Given the description of an element on the screen output the (x, y) to click on. 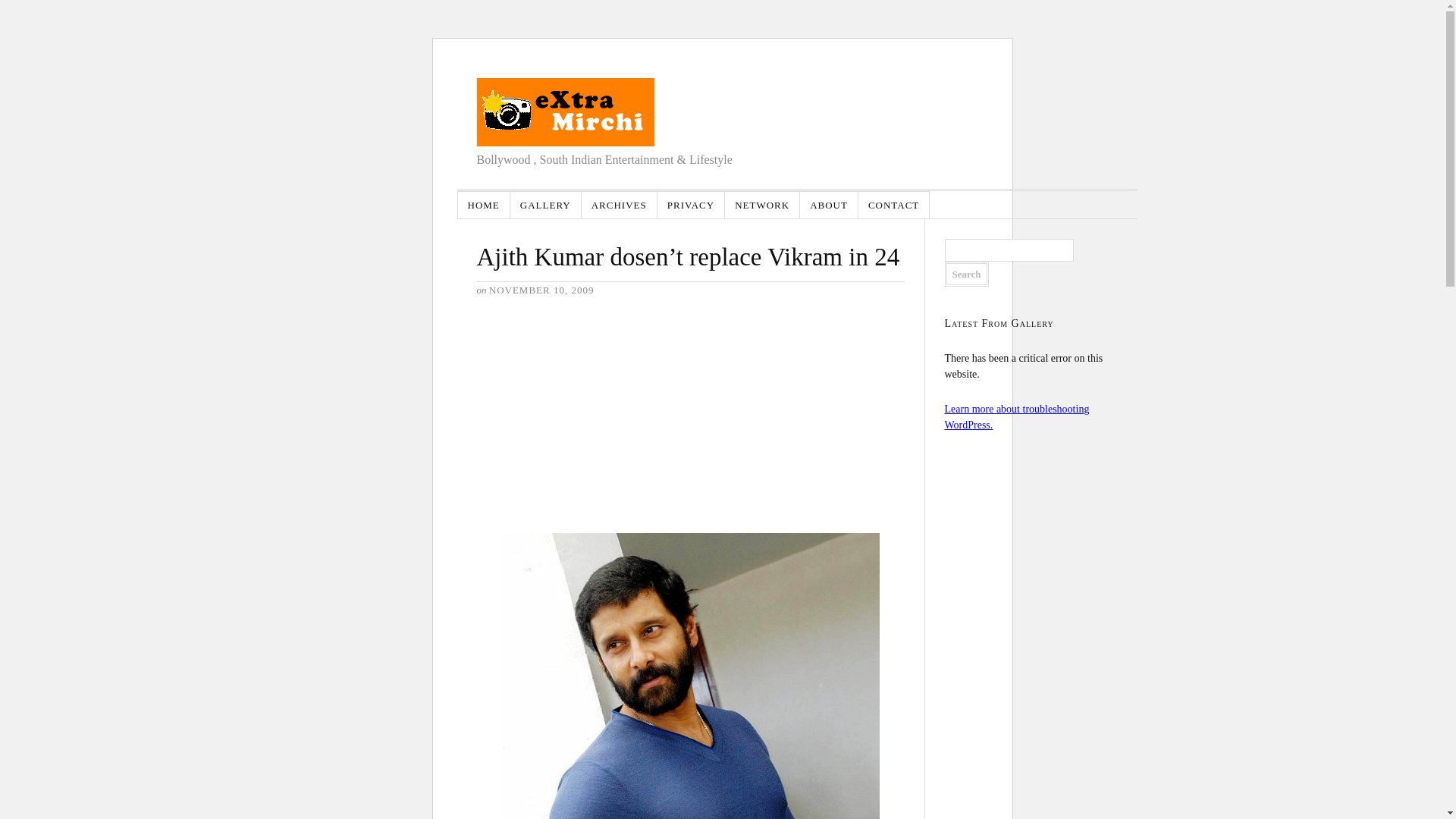
Advertisement (589, 412)
ARCHIVES (619, 204)
HOME (484, 204)
2009-11-10 (541, 289)
GALLERY (545, 204)
visit the home page (564, 111)
